Given the description of an element on the screen output the (x, y) to click on. 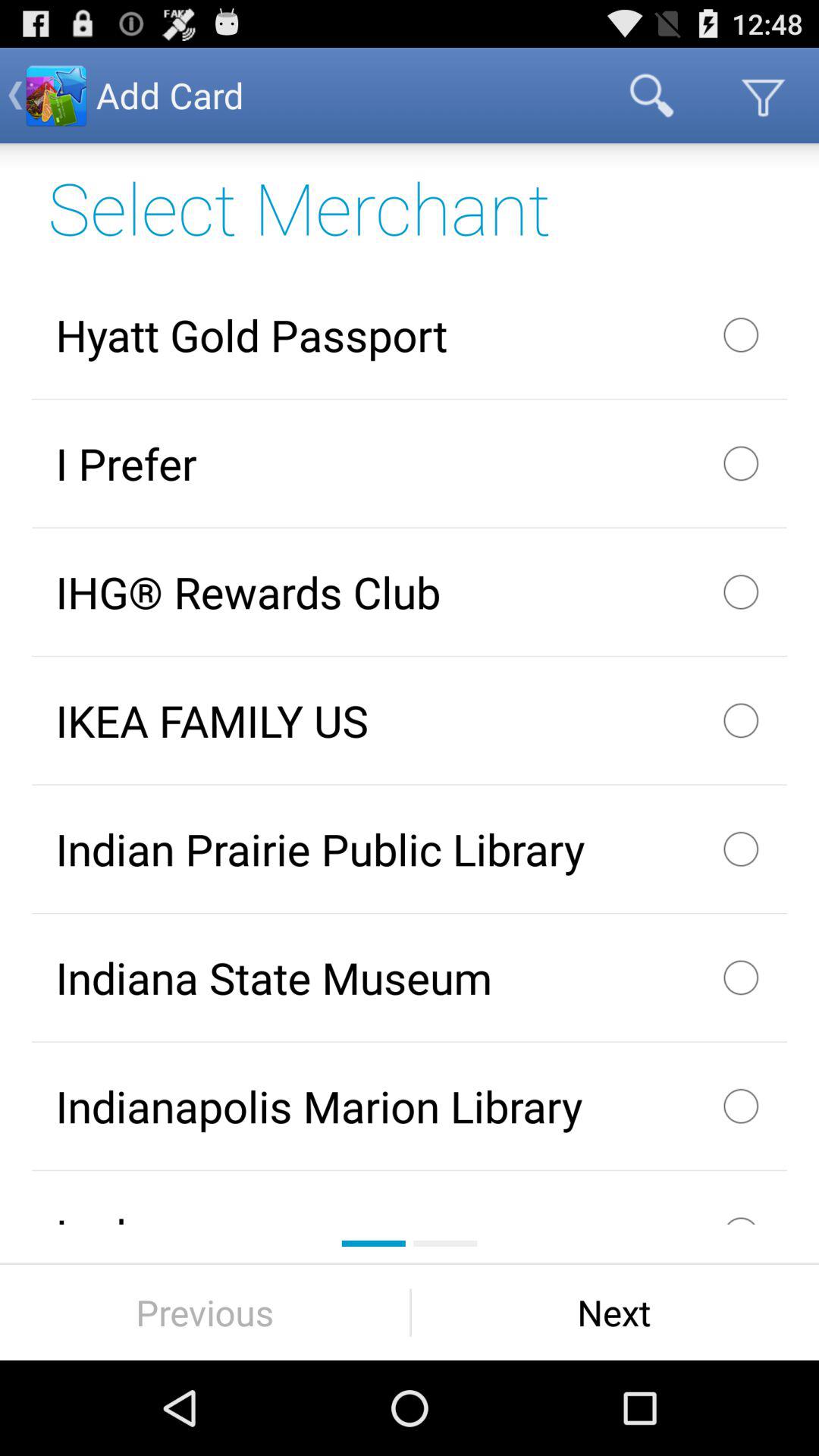
turn on the checkbox below the i prefer (409, 591)
